Given the description of an element on the screen output the (x, y) to click on. 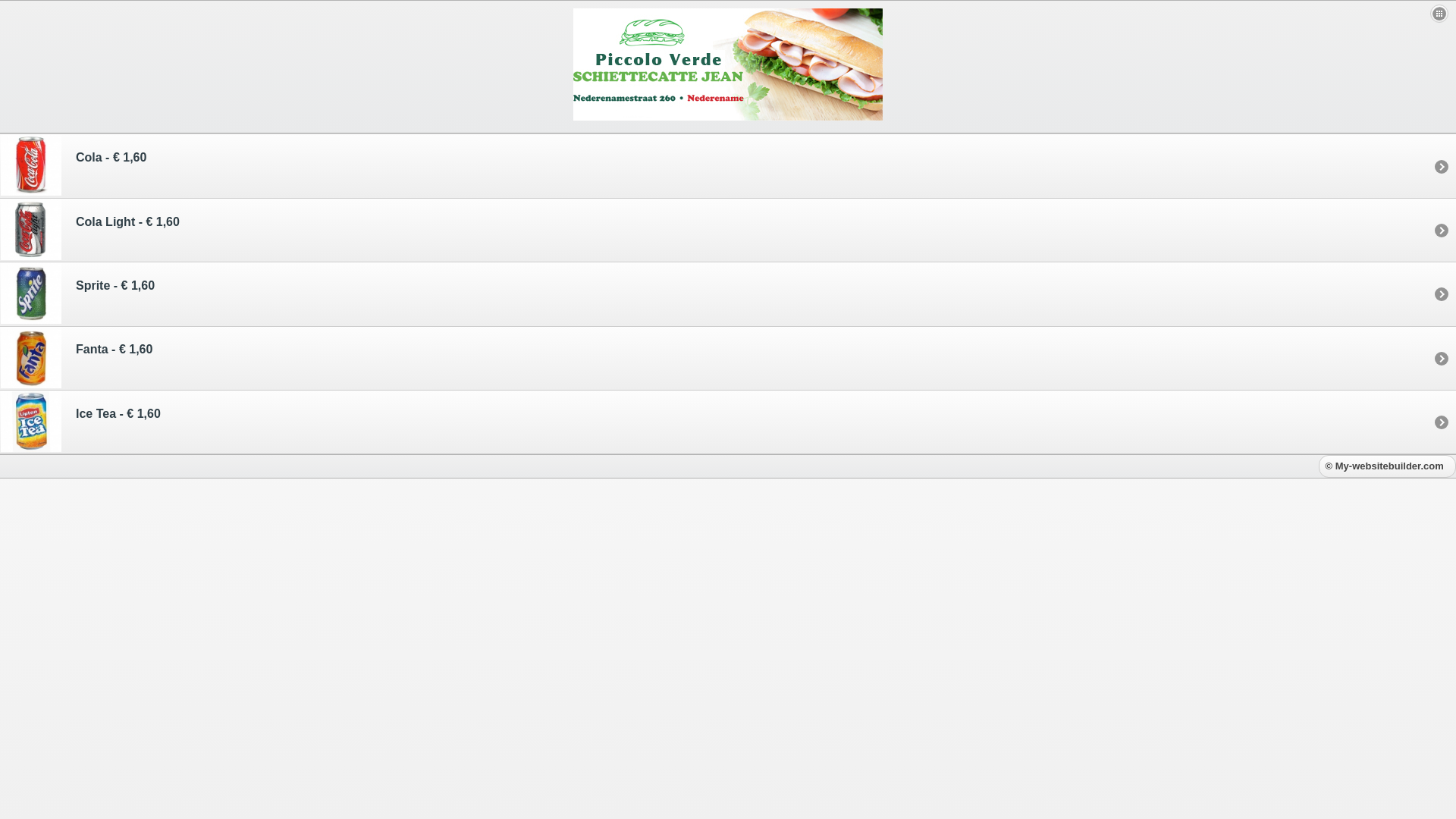
Menu Element type: hover (1439, 13)
